Given the description of an element on the screen output the (x, y) to click on. 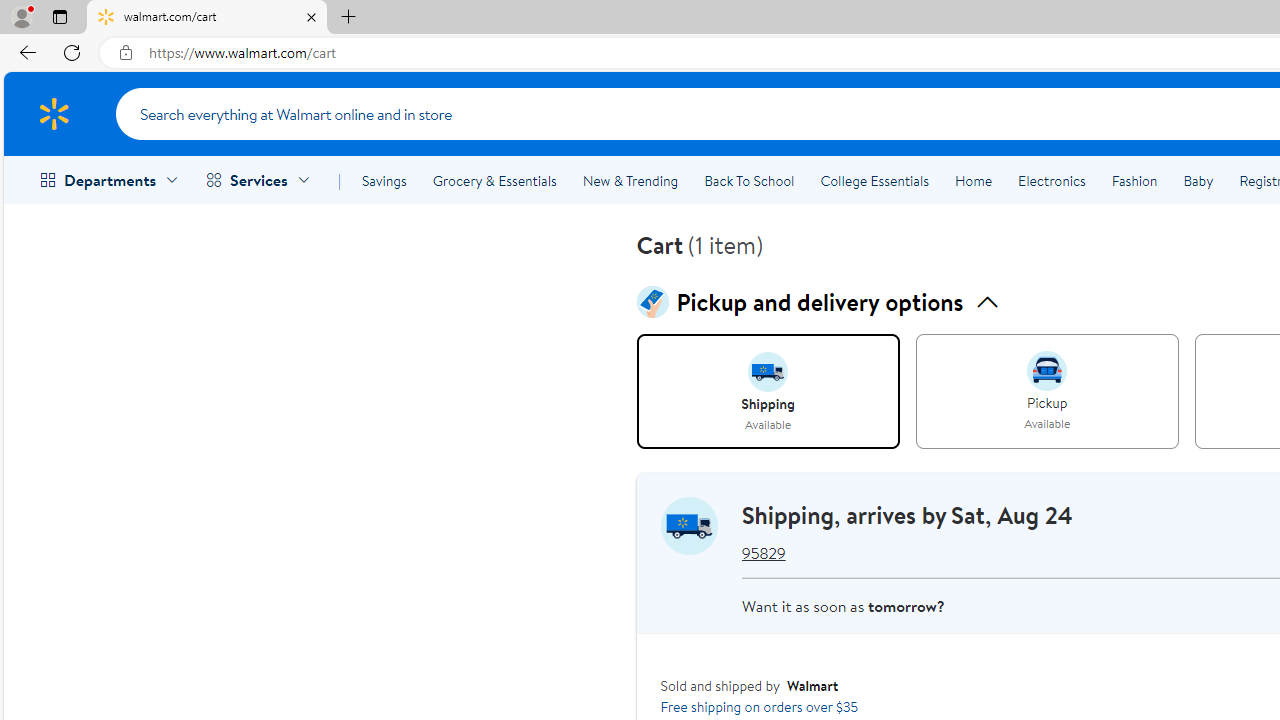
College Essentials (874, 180)
Savings (384, 180)
Baby (1197, 180)
intent image for pickup (1046, 370)
SHIPPING, Available, selected (767, 392)
walmart.com/cart (207, 17)
intent image for shipping (767, 371)
Baby (1197, 180)
fulfillment logo (689, 525)
95829 (763, 553)
Electronics (1051, 180)
Fashion (1134, 180)
